Given the description of an element on the screen output the (x, y) to click on. 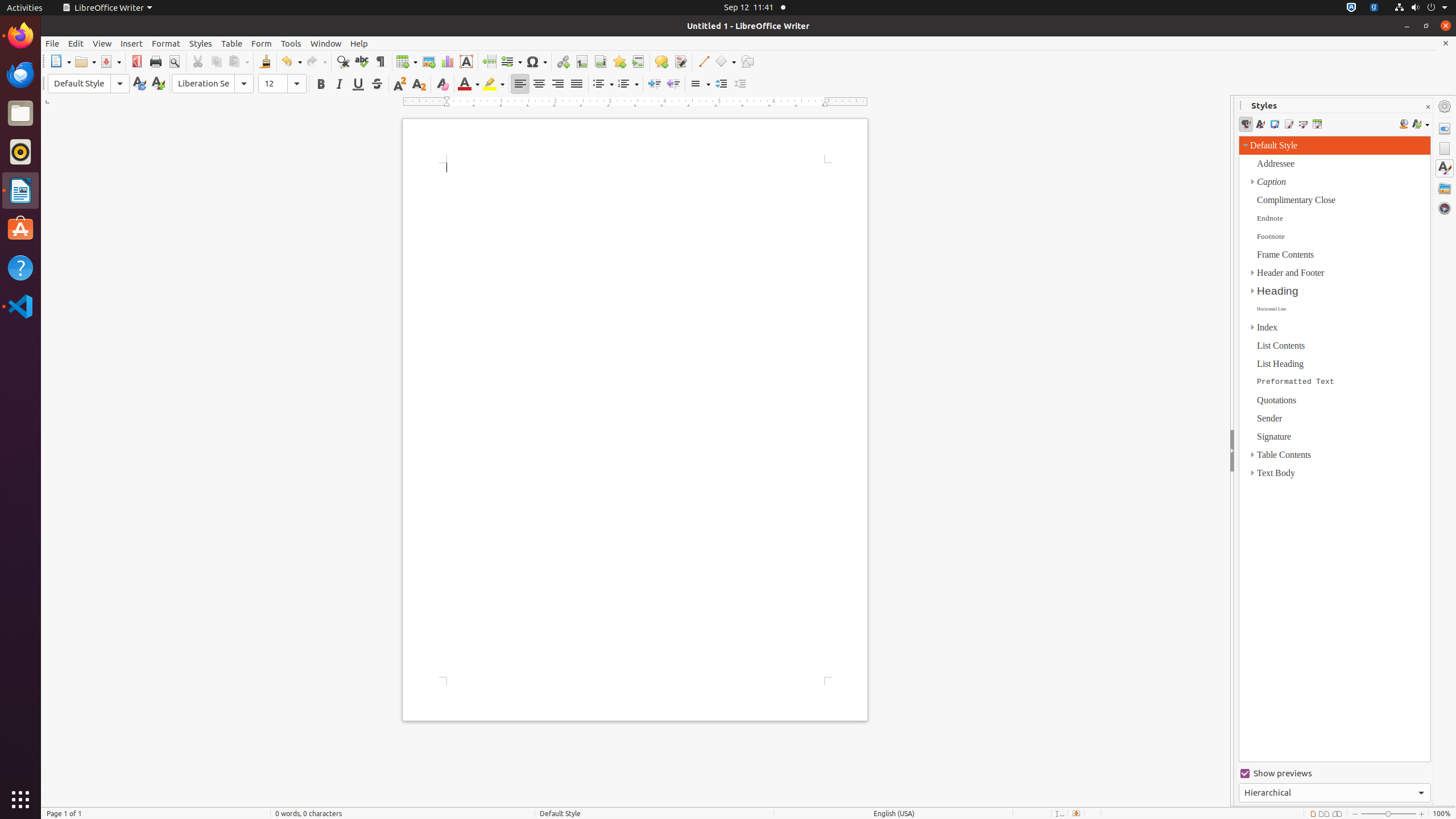
Styles Element type: menu (200, 43)
Numbering Element type: push-button (627, 83)
New Element type: push-button (157, 83)
Chart Element type: push-button (446, 61)
Help Element type: push-button (20, 267)
